Given the description of an element on the screen output the (x, y) to click on. 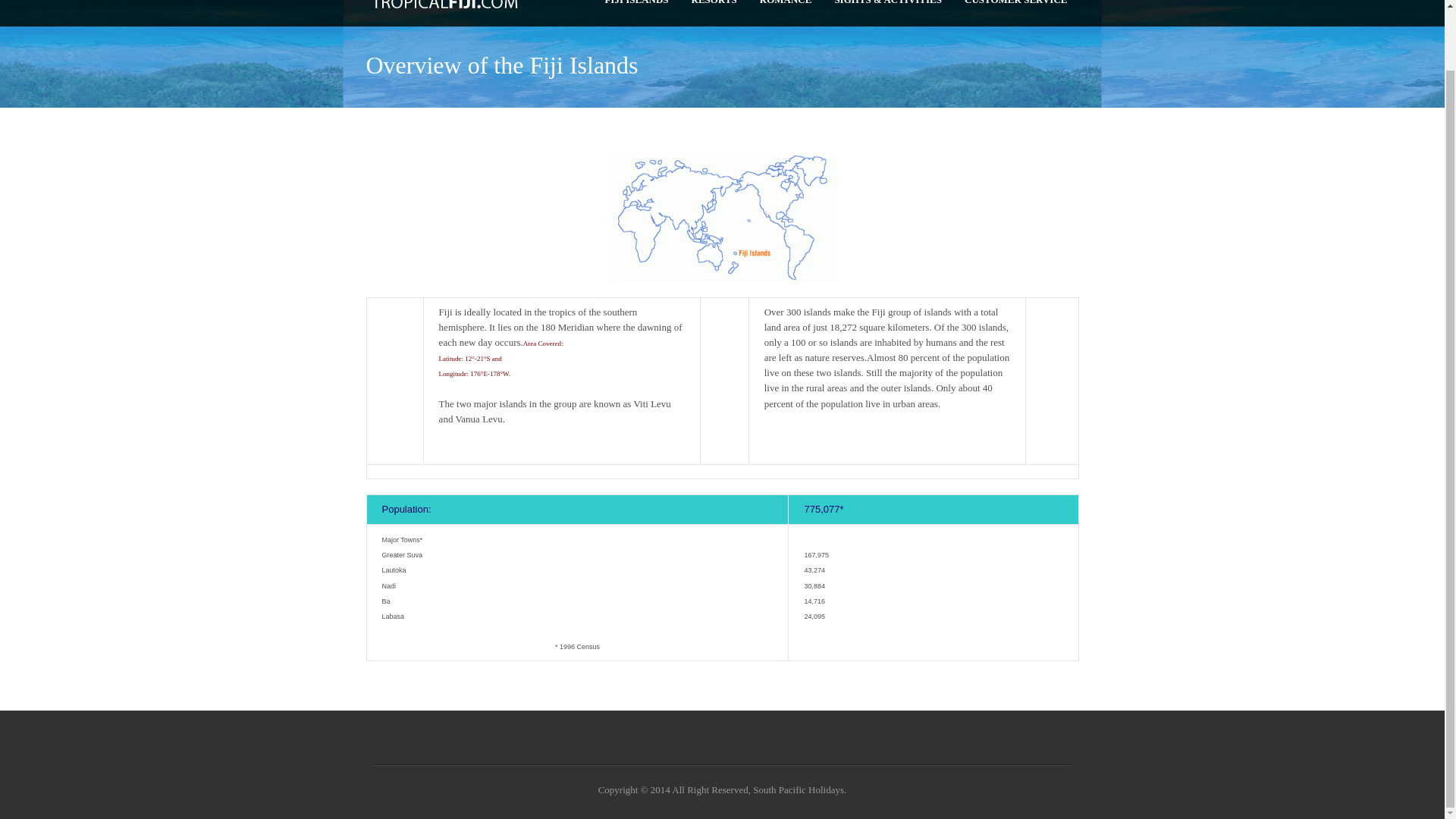
ROMANCE (786, 4)
FIJI ISLANDS (635, 4)
CUSTOMER SERVICE (1015, 4)
RESORTS (713, 4)
